Given the description of an element on the screen output the (x, y) to click on. 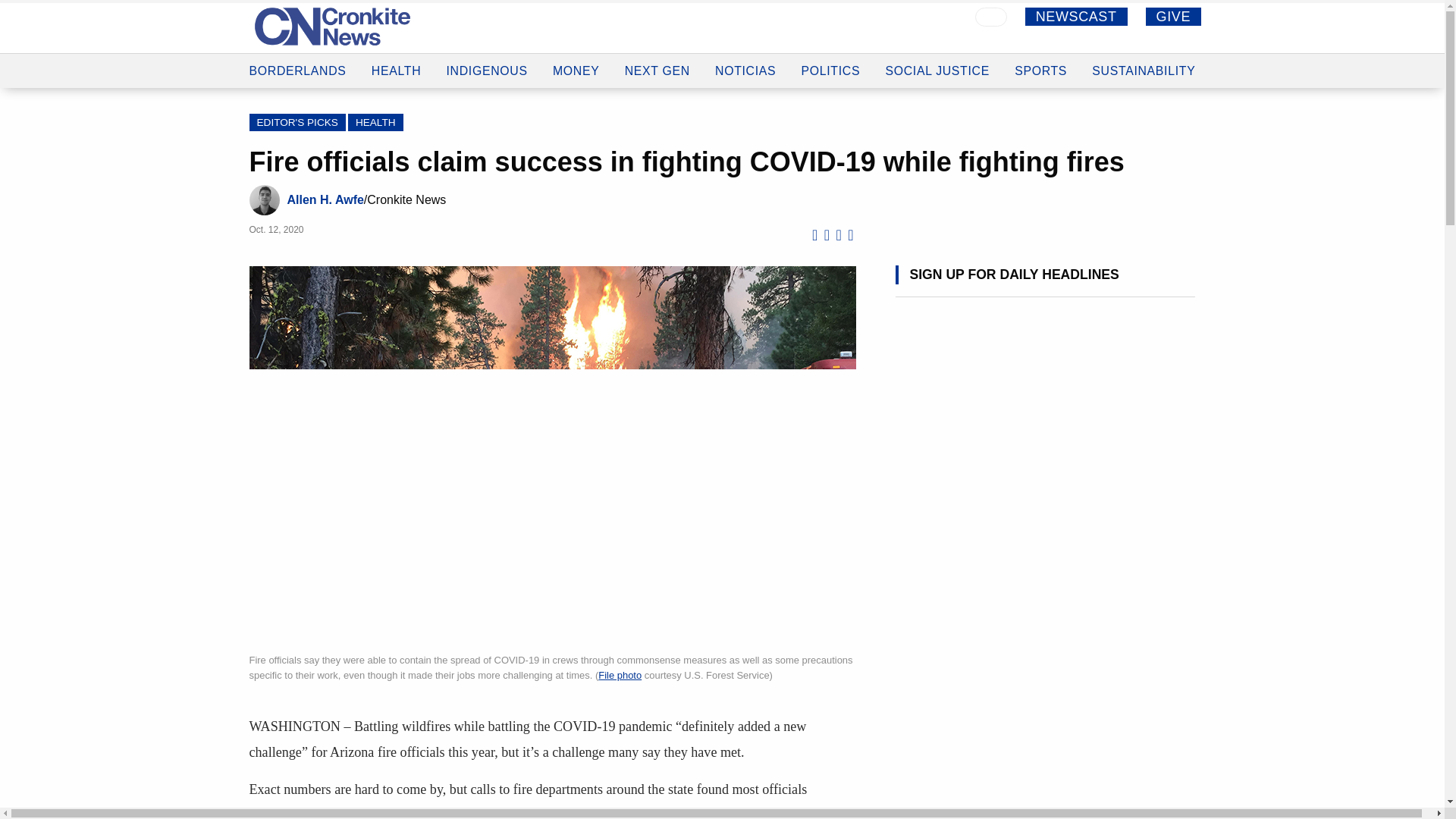
File photo (620, 674)
SPORTS (1040, 70)
NEWSCAST (1075, 16)
SUSTAINABILITY (1143, 70)
GIVE (1173, 16)
MONEY (576, 65)
HEALTH (395, 59)
BORDERLANDS (297, 56)
NEXT GEN (657, 66)
SOCIAL JUSTICE (937, 69)
